Given the description of an element on the screen output the (x, y) to click on. 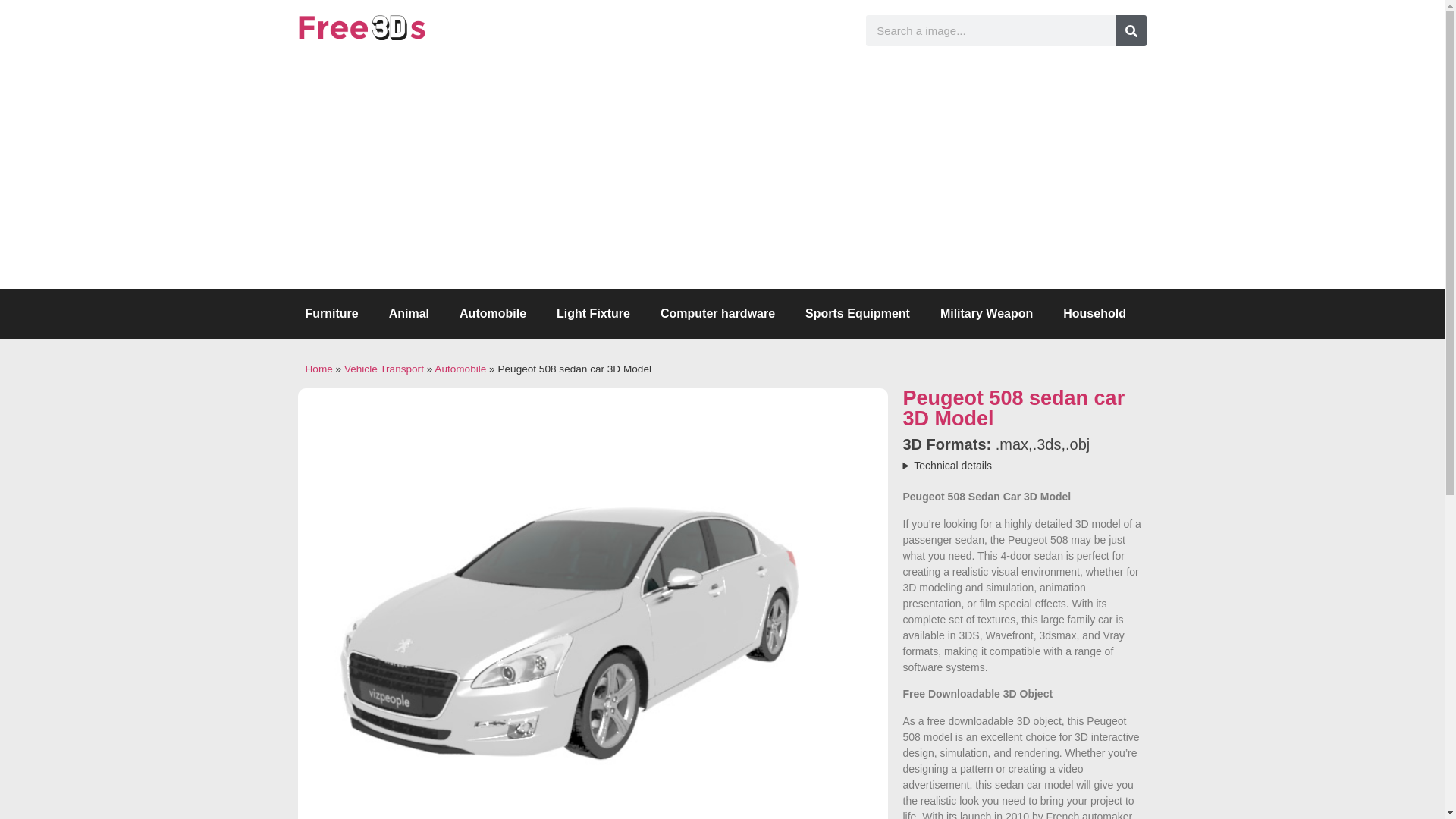
Home (317, 368)
Light Fixture (593, 313)
Sports Equipment (857, 313)
Automobile (492, 313)
Military Weapon (986, 313)
Household (1094, 313)
Computer hardware (717, 313)
Automobile (459, 368)
Animal (409, 313)
